Given the description of an element on the screen output the (x, y) to click on. 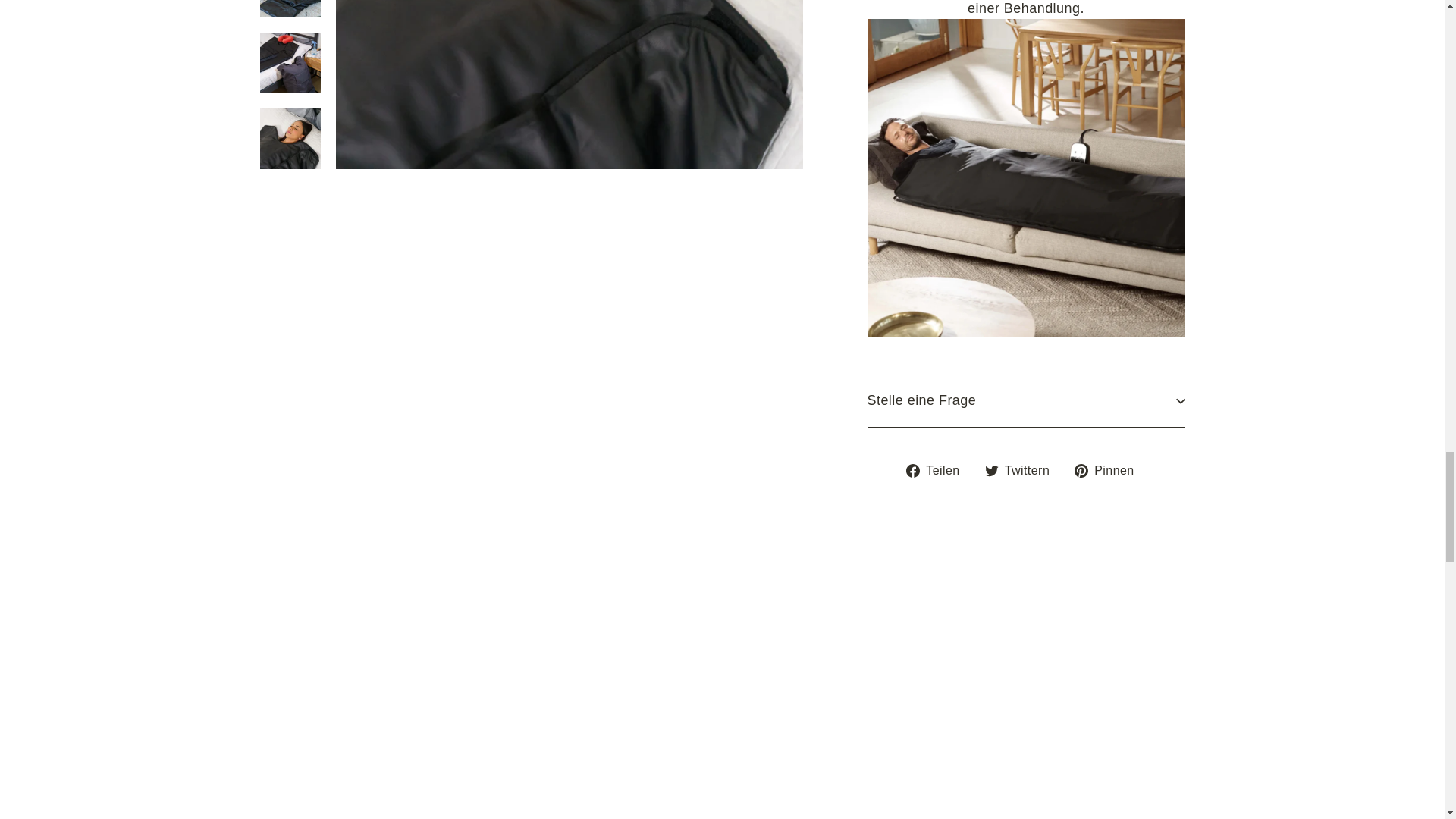
Auf Facebook teilen (938, 470)
Auf Twitter twittern (1023, 470)
Auf Pinterest pinnen (1109, 470)
twitter (991, 470)
